Given the description of an element on the screen output the (x, y) to click on. 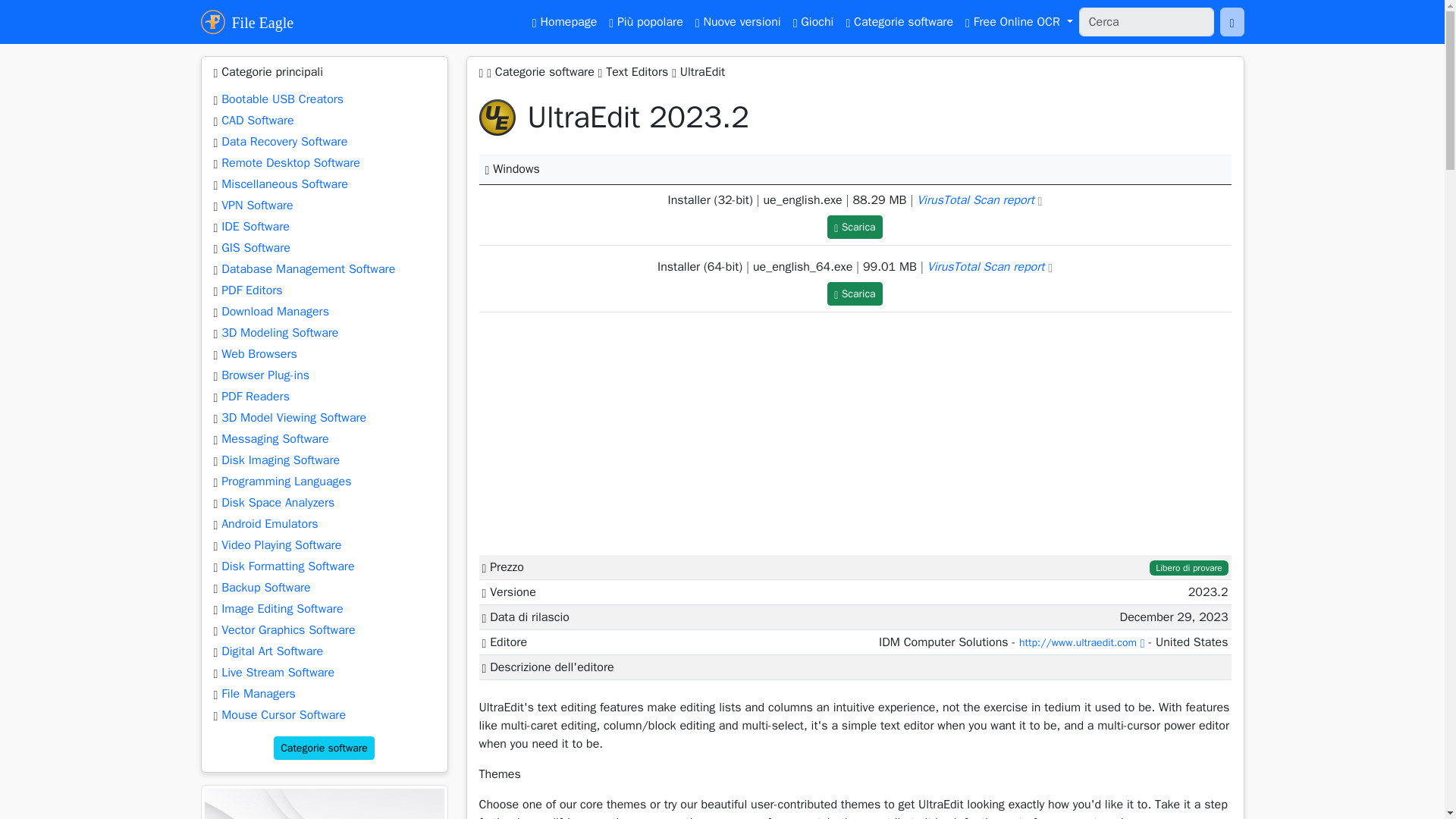
3D Model Viewing Software (293, 417)
Image Editing Software (281, 608)
PDF Readers (255, 396)
Remote Desktop Software (290, 162)
PDF Editors (251, 290)
Web Browsers (259, 353)
IDE Software (255, 226)
Categorie software (323, 748)
Disk Formatting Software (287, 566)
Video Playing Software (280, 544)
Free Online OCR (1018, 21)
Disk Imaging Software (280, 459)
Homepage (563, 21)
Bootable USB Creators (282, 99)
File Eagle (247, 21)
